Given the description of an element on the screen output the (x, y) to click on. 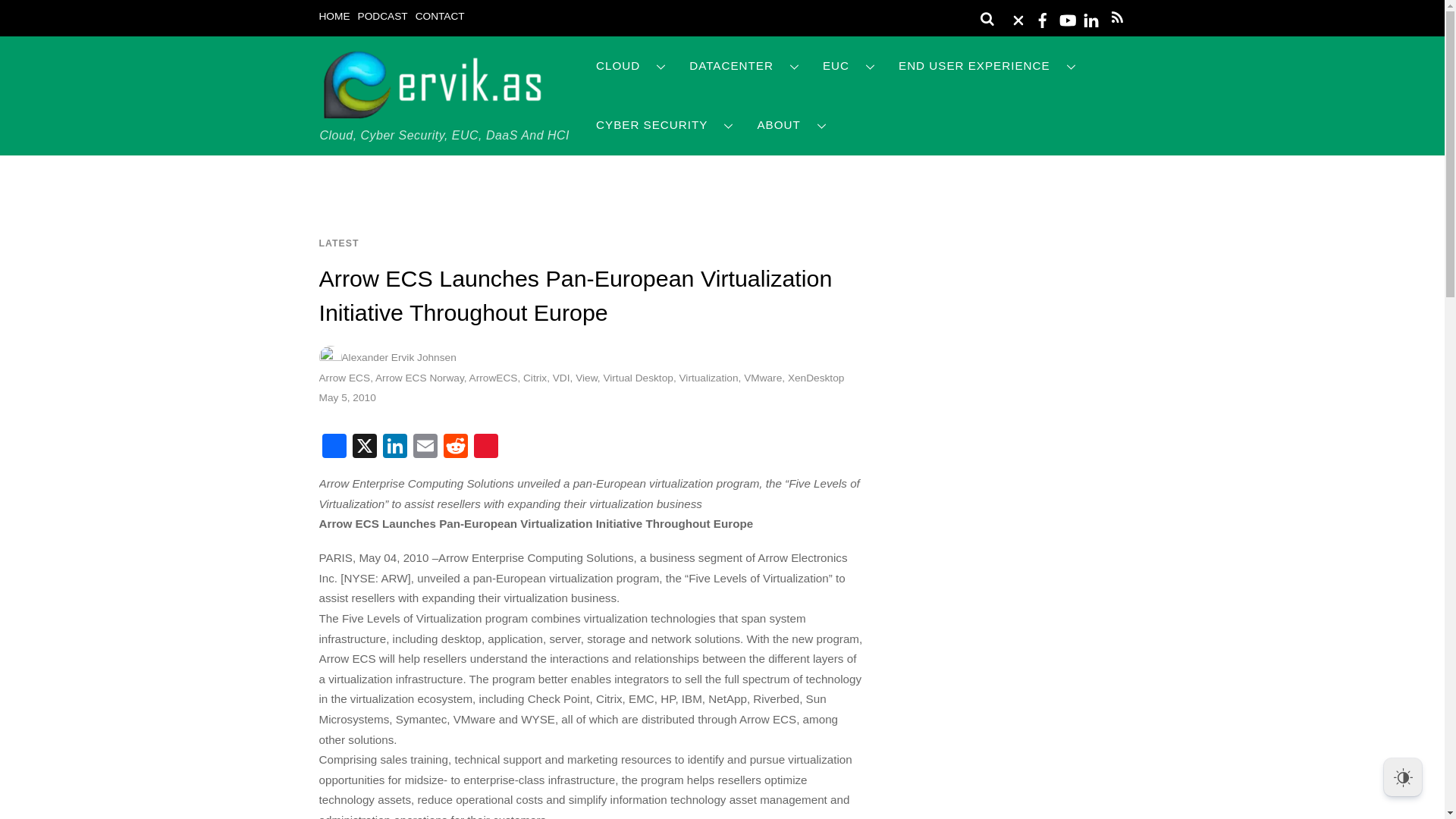
CONTACT (439, 16)
HOME (333, 16)
Sina Weibo (485, 447)
LinkedIn (393, 447)
Reddit (454, 447)
Email (424, 447)
DATACENTER (744, 66)
Ervik.as (432, 114)
X (363, 447)
CLOUD (631, 66)
